Given the description of an element on the screen output the (x, y) to click on. 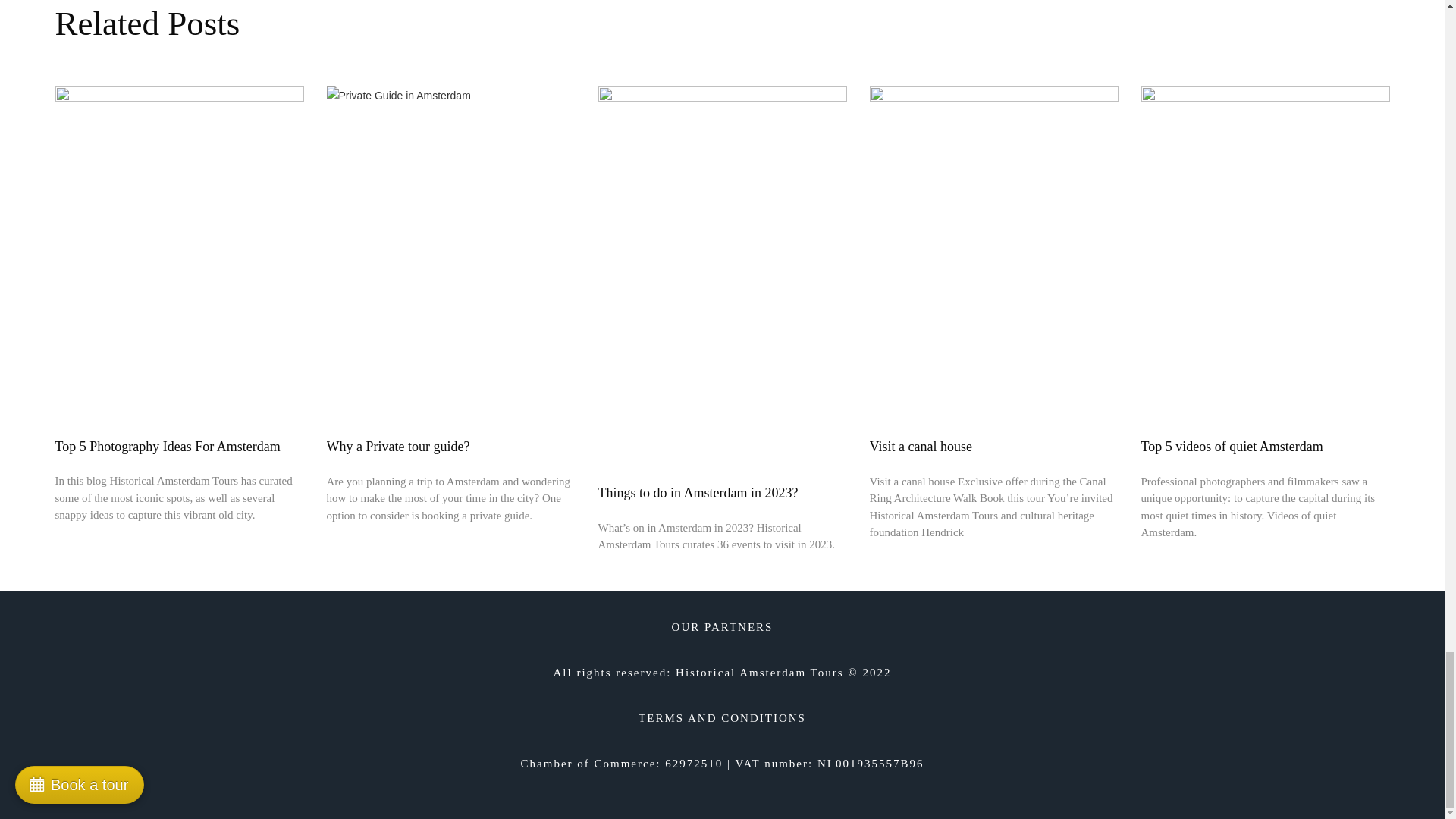
Things to do in Amsterdam in 2023? (696, 492)
Top 5 videos of quiet Amsterdam (1231, 446)
Top 5 Photography Ideas For Amsterdam (167, 446)
Why a Private tour guide? (397, 446)
TERMS AND CONDITIONS (722, 717)
OUR PARTNERS (722, 626)
Visit a canal house (920, 446)
